Given the description of an element on the screen output the (x, y) to click on. 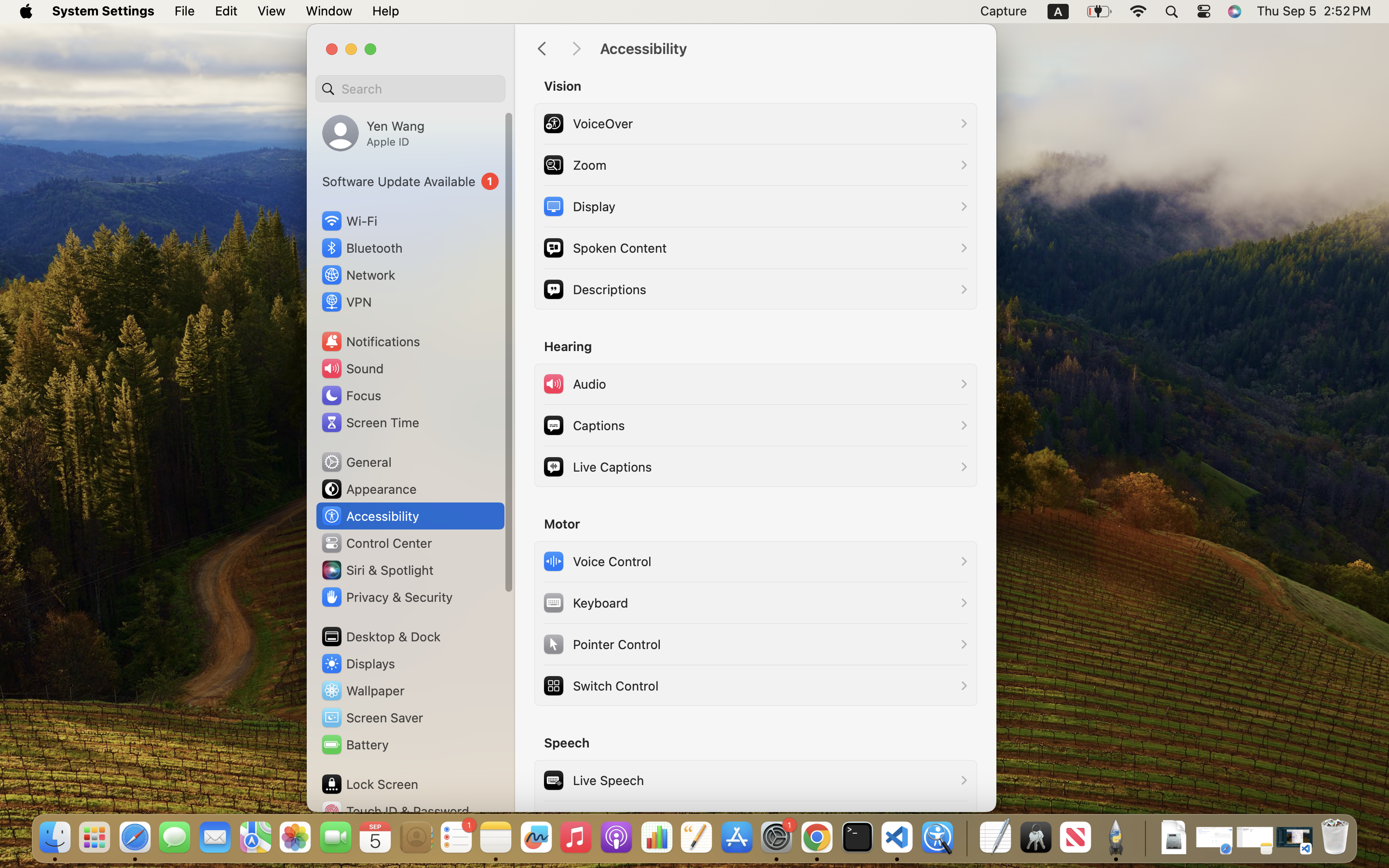
Desktop & Dock Element type: AXStaticText (380, 636)
Siri & Spotlight Element type: AXStaticText (376, 569)
Wi‑Fi Element type: AXStaticText (348, 220)
Accessibility Element type: AXStaticText (788, 49)
General Element type: AXStaticText (355, 461)
